Given the description of an element on the screen output the (x, y) to click on. 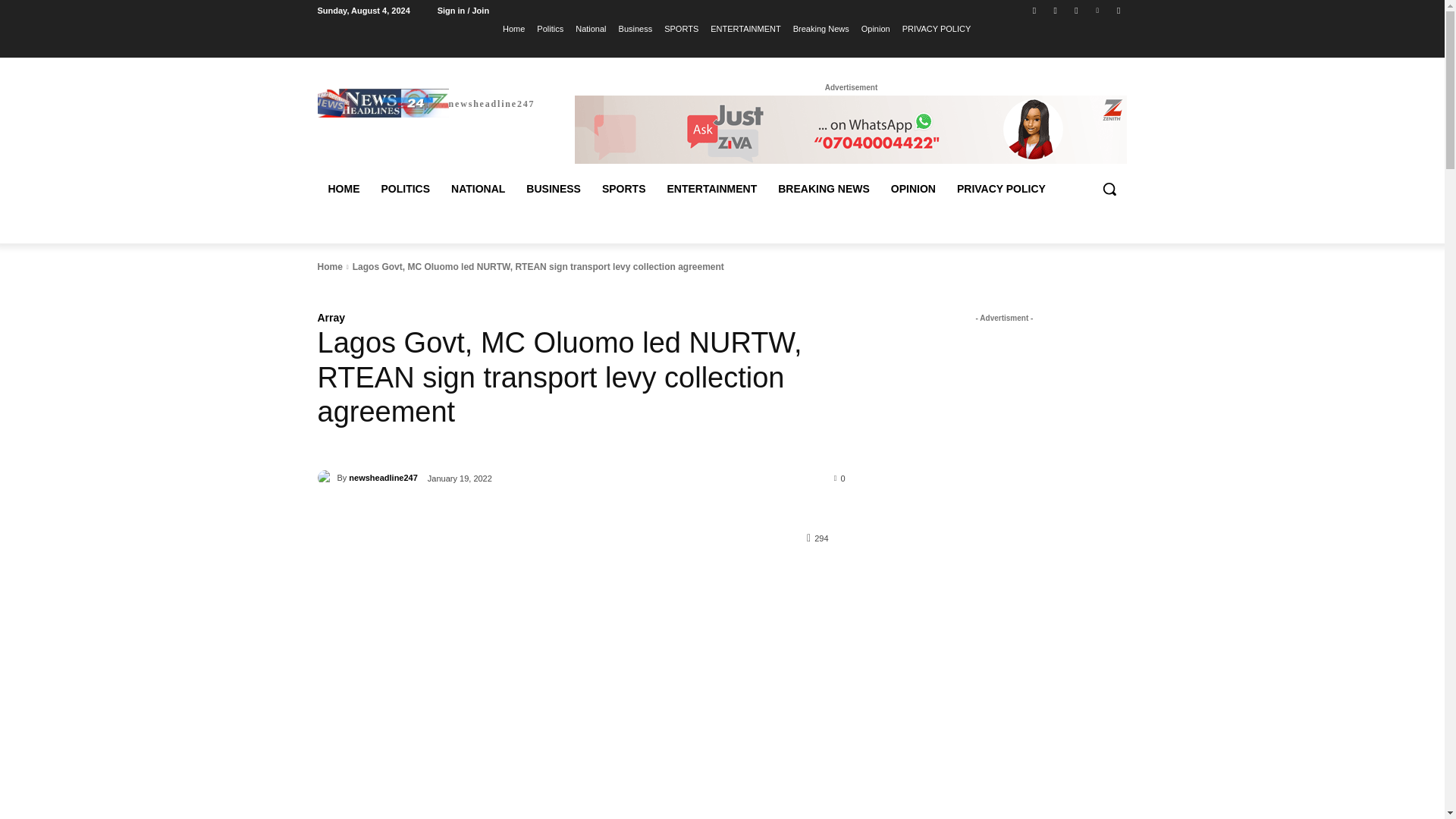
Instagram (1055, 9)
ENTERTAINMENT (745, 28)
Vimeo (1097, 9)
newsheadline247 (425, 102)
Opinion (875, 28)
Facebook (1034, 9)
HOME (343, 188)
SPORTS (680, 28)
Home (513, 28)
Politics (550, 28)
Twitter (1075, 9)
Business (635, 28)
National (590, 28)
Youtube (1117, 9)
Breaking News (820, 28)
